Given the description of an element on the screen output the (x, y) to click on. 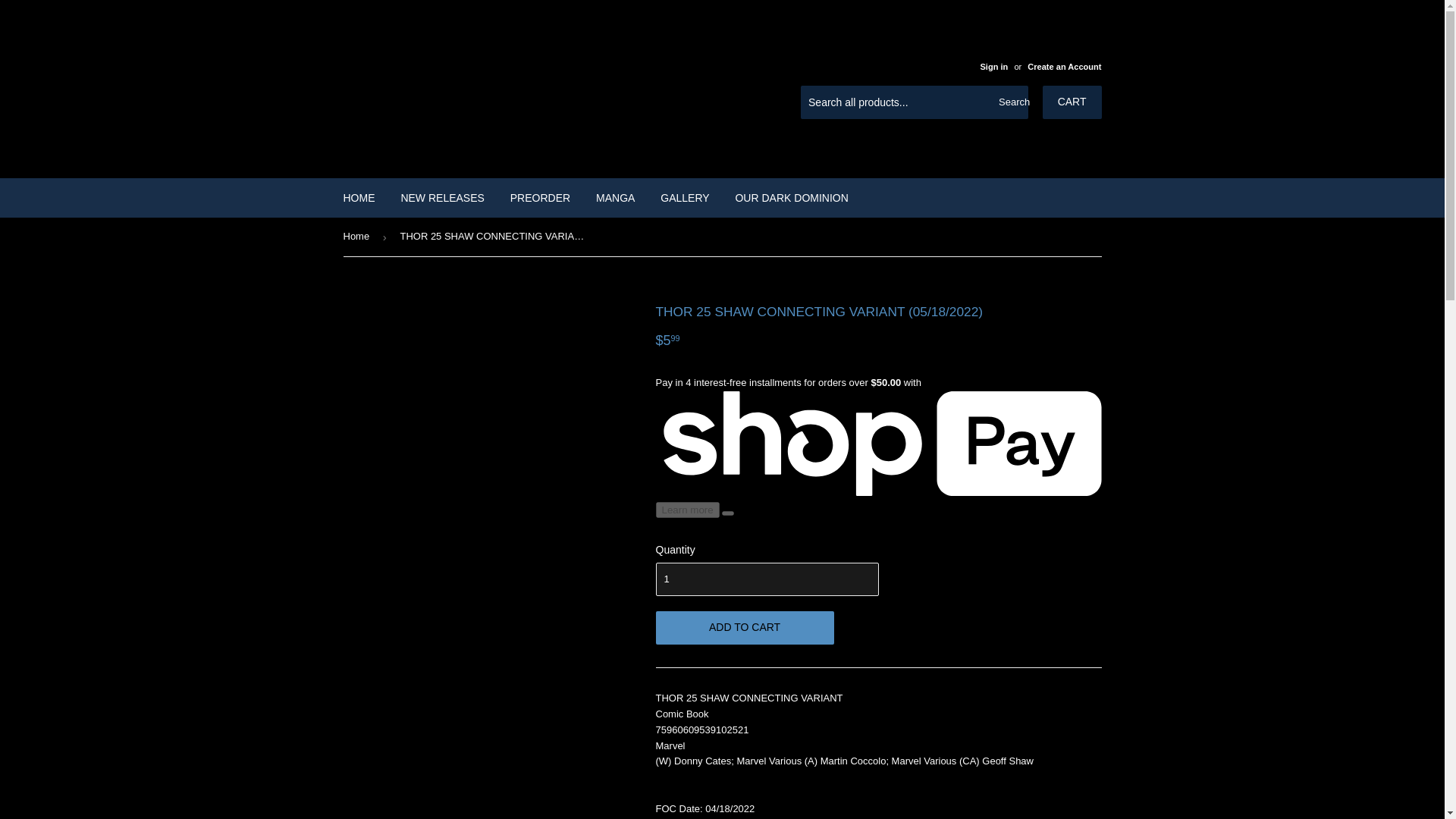
GALLERY (684, 197)
Sign in (993, 66)
HOME (359, 197)
MANGA (615, 197)
Search (1010, 102)
1 (766, 579)
Create an Account (1063, 66)
NEW RELEASES (441, 197)
CART (1072, 101)
PREORDER (539, 197)
